Given the description of an element on the screen output the (x, y) to click on. 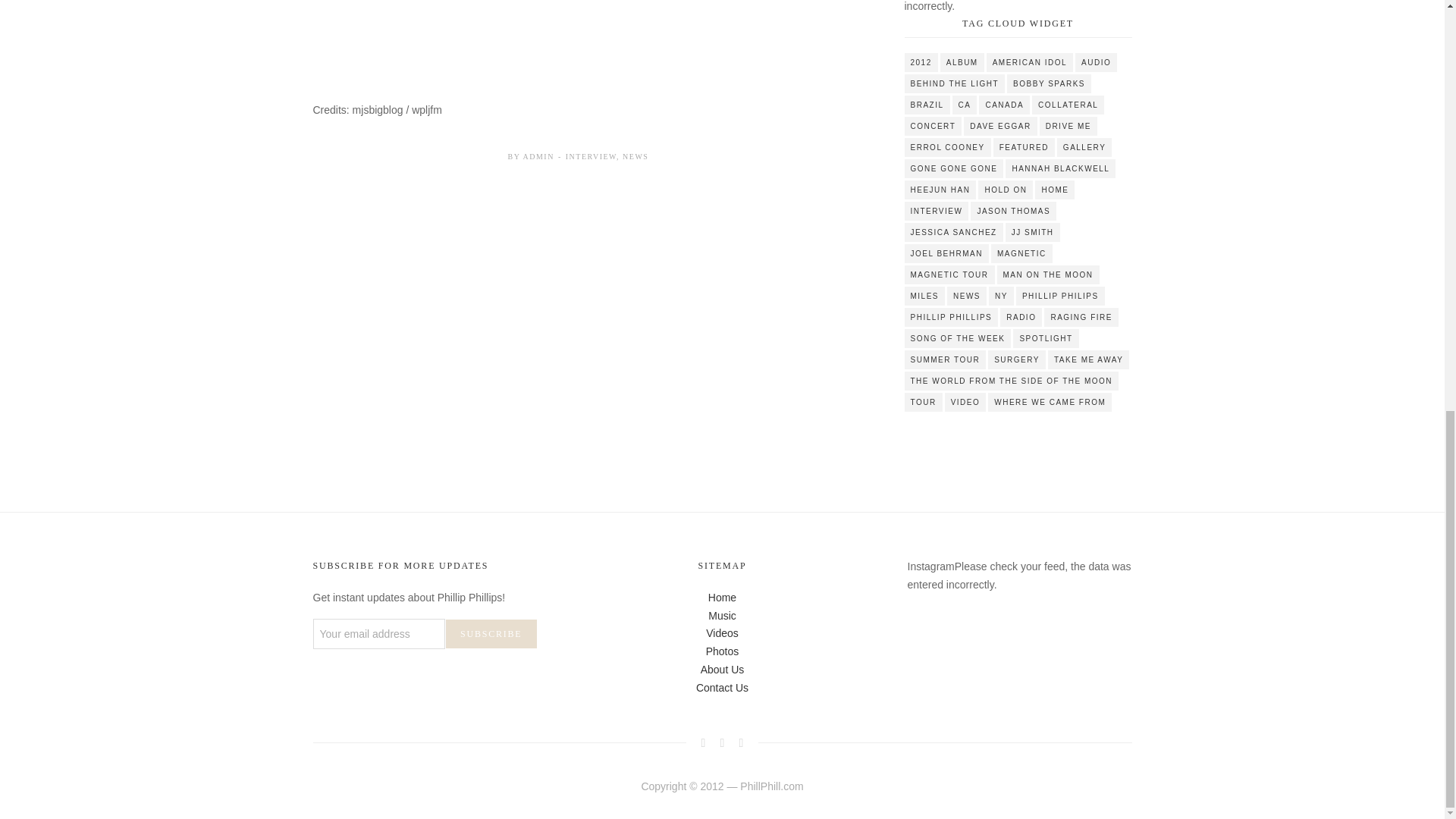
NEWS (635, 156)
BRAZIL (926, 104)
INTERVIEW (590, 156)
Subscribe (491, 633)
AUDIO (1095, 62)
CA (964, 104)
BEHIND THE LIGHT (954, 83)
BOBBY SPARKS (1048, 83)
ALBUM (962, 62)
2012 (920, 62)
AMERICAN IDOL (1030, 62)
ADMIN (538, 156)
